Given the description of an element on the screen output the (x, y) to click on. 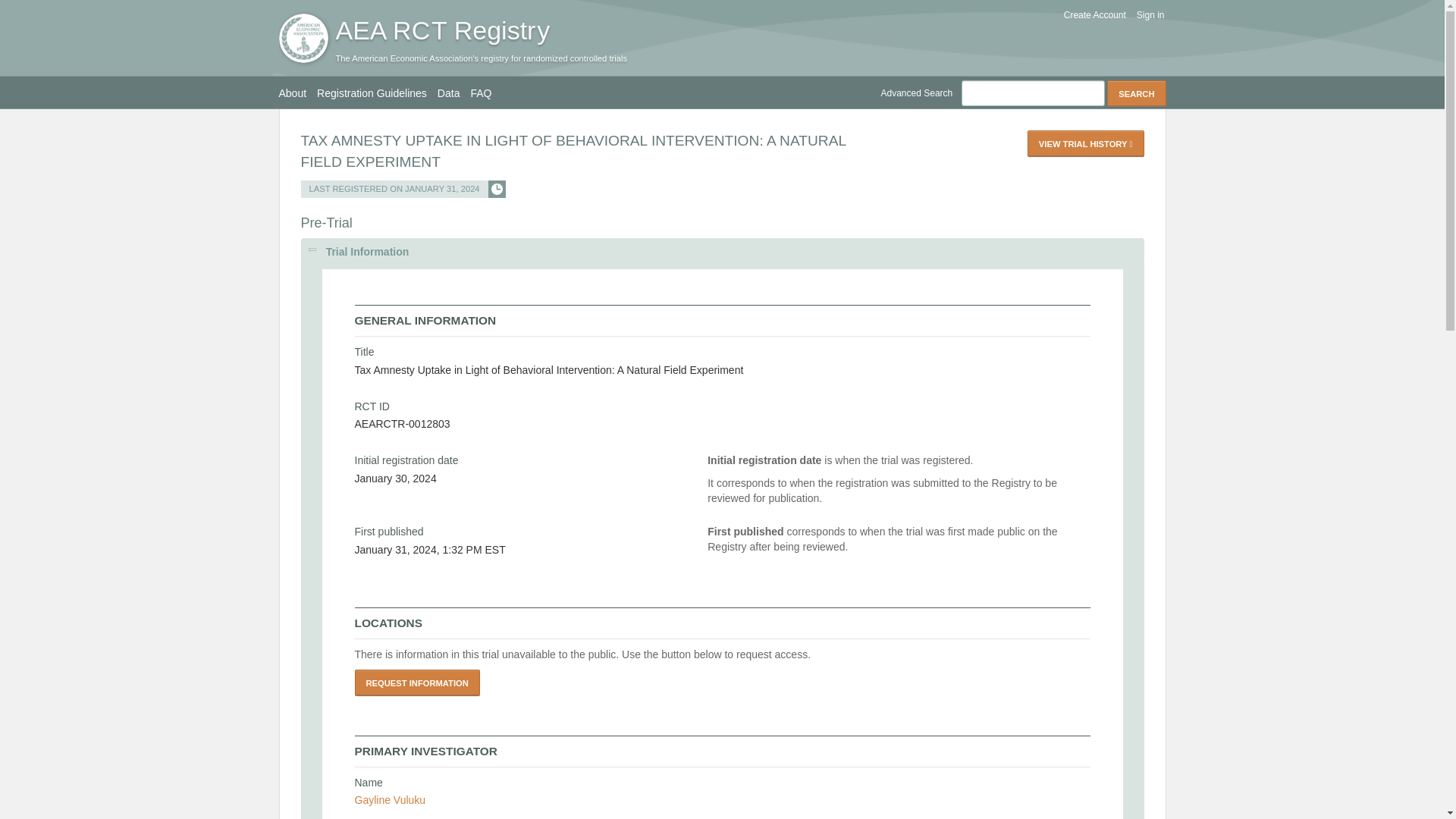
Advanced Search (921, 92)
About (298, 92)
Sign in (1145, 14)
Data (454, 92)
VIEW TRIAL HISTORY (1085, 143)
Search (1136, 93)
Create Account (1089, 14)
Search (1136, 93)
FAQ (486, 92)
Search (1136, 93)
Gayline Vuluku (390, 799)
REQUEST INFORMATION (417, 682)
Trial Information (720, 251)
Registration Guidelines (377, 92)
